Given the description of an element on the screen output the (x, y) to click on. 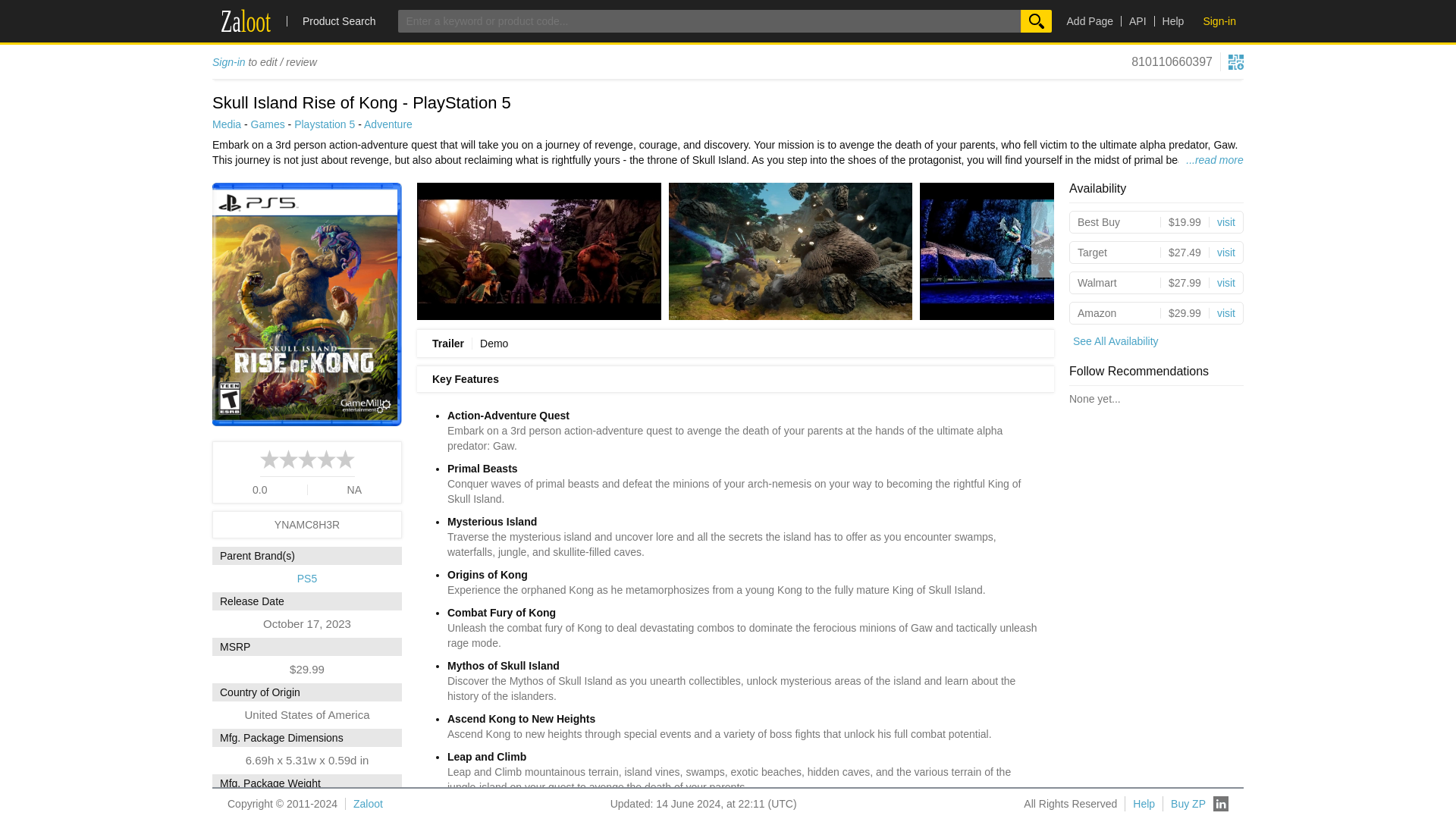
Demo (489, 343)
...read more (1210, 159)
Media (226, 123)
Add Page (1090, 20)
Playstation 5 (297, 21)
Sign-in (324, 123)
API (229, 61)
Sign-in (1134, 20)
PS5 (1219, 21)
Adventure (307, 578)
Games (388, 123)
Trailer (267, 123)
Help (448, 343)
